Given the description of an element on the screen output the (x, y) to click on. 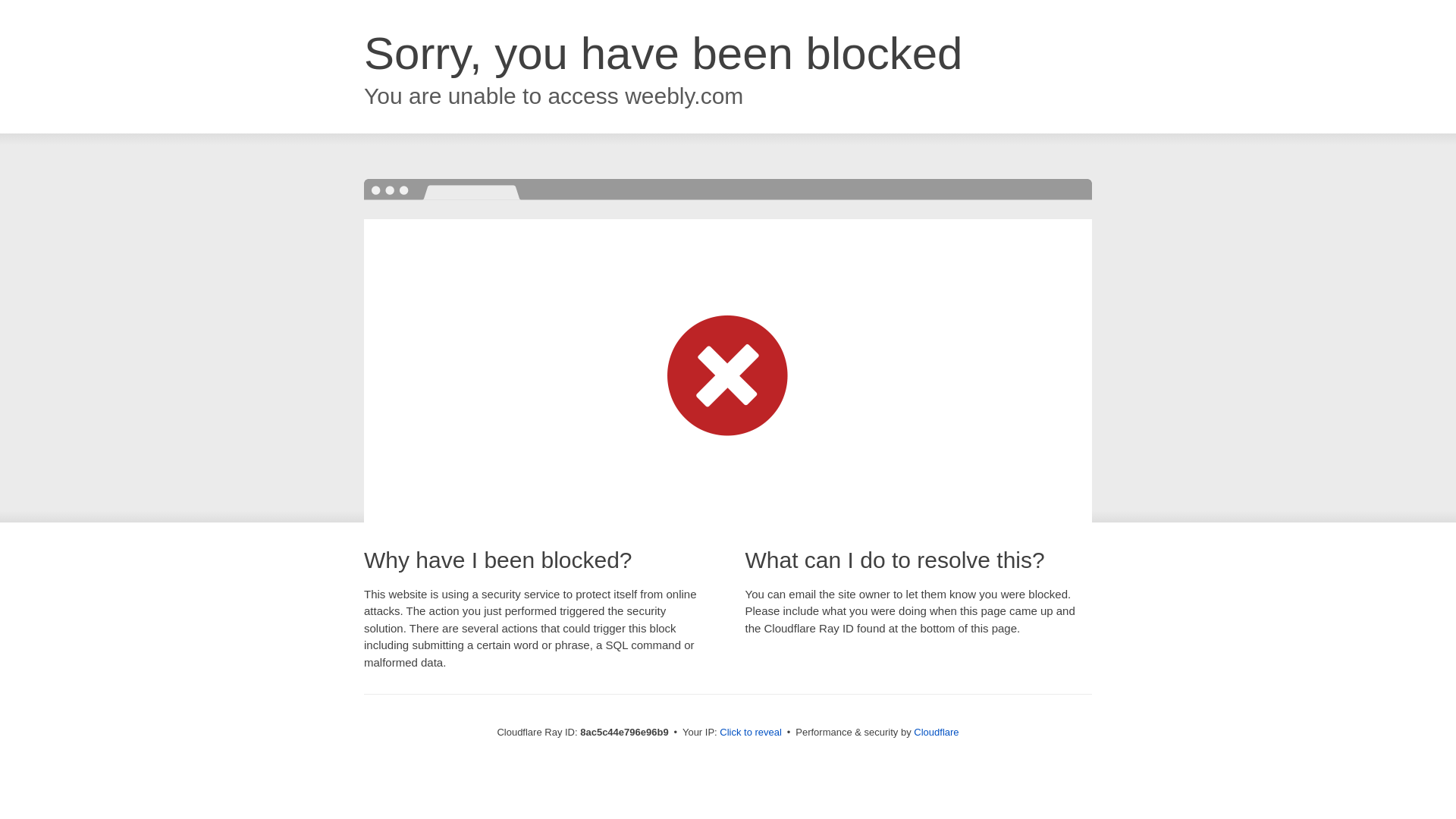
Click to reveal (750, 732)
Cloudflare (936, 731)
